Given the description of an element on the screen output the (x, y) to click on. 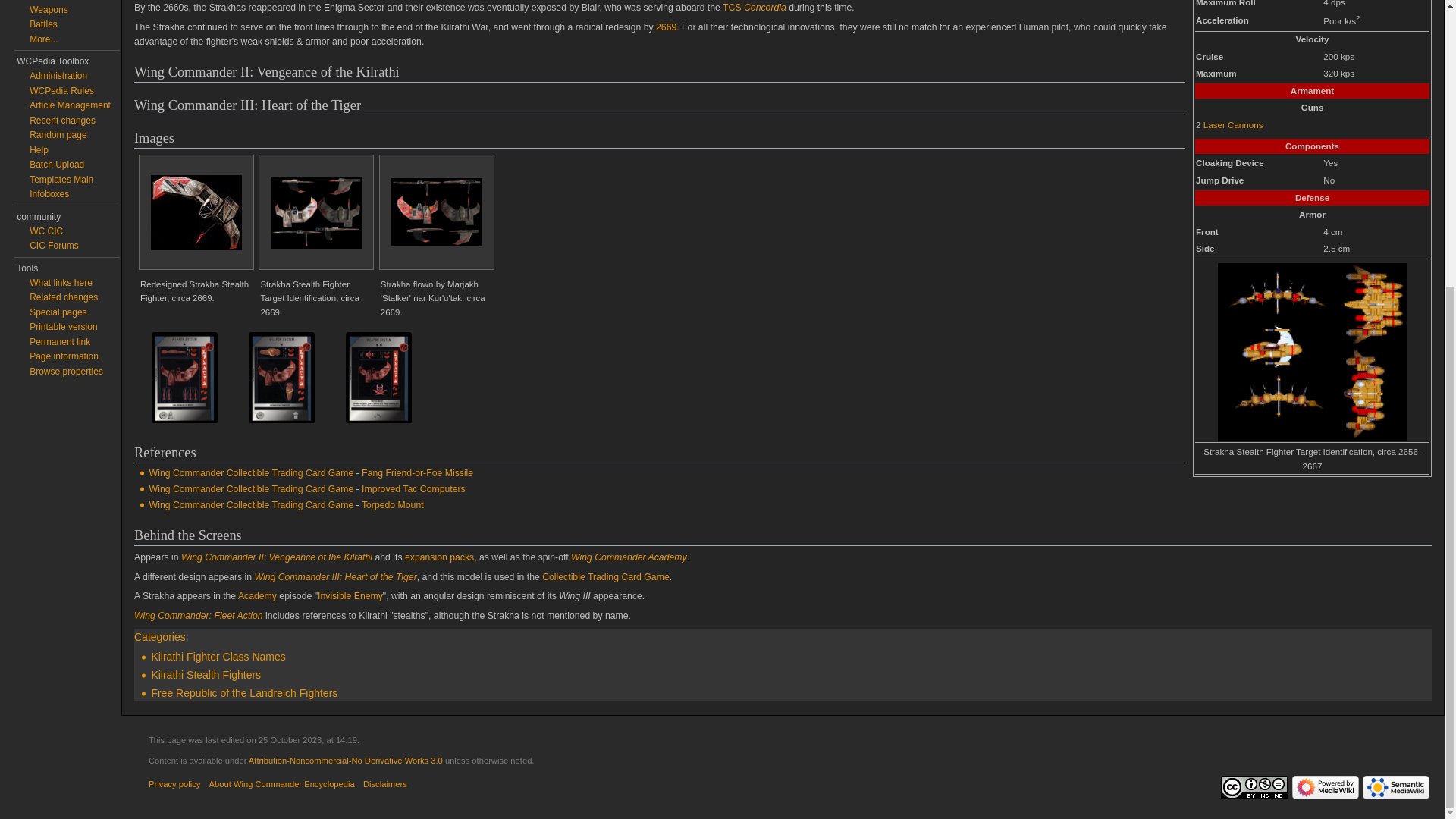
Wing Commander Collectible Trading Card Game (251, 472)
2669 (666, 27)
Laser Cannons (1233, 124)
Wing Commander Collectible Trading Card Game (251, 504)
Fang Friend-or-Foe Missile (417, 472)
Torpedo Mount (392, 504)
Wing Commander Collectible Trading Card Game (251, 489)
Redesigned Strakha Stealth Fighter, circa 2669. (196, 212)
2669 (666, 27)
TCS Concordia (754, 7)
